Given the description of an element on the screen output the (x, y) to click on. 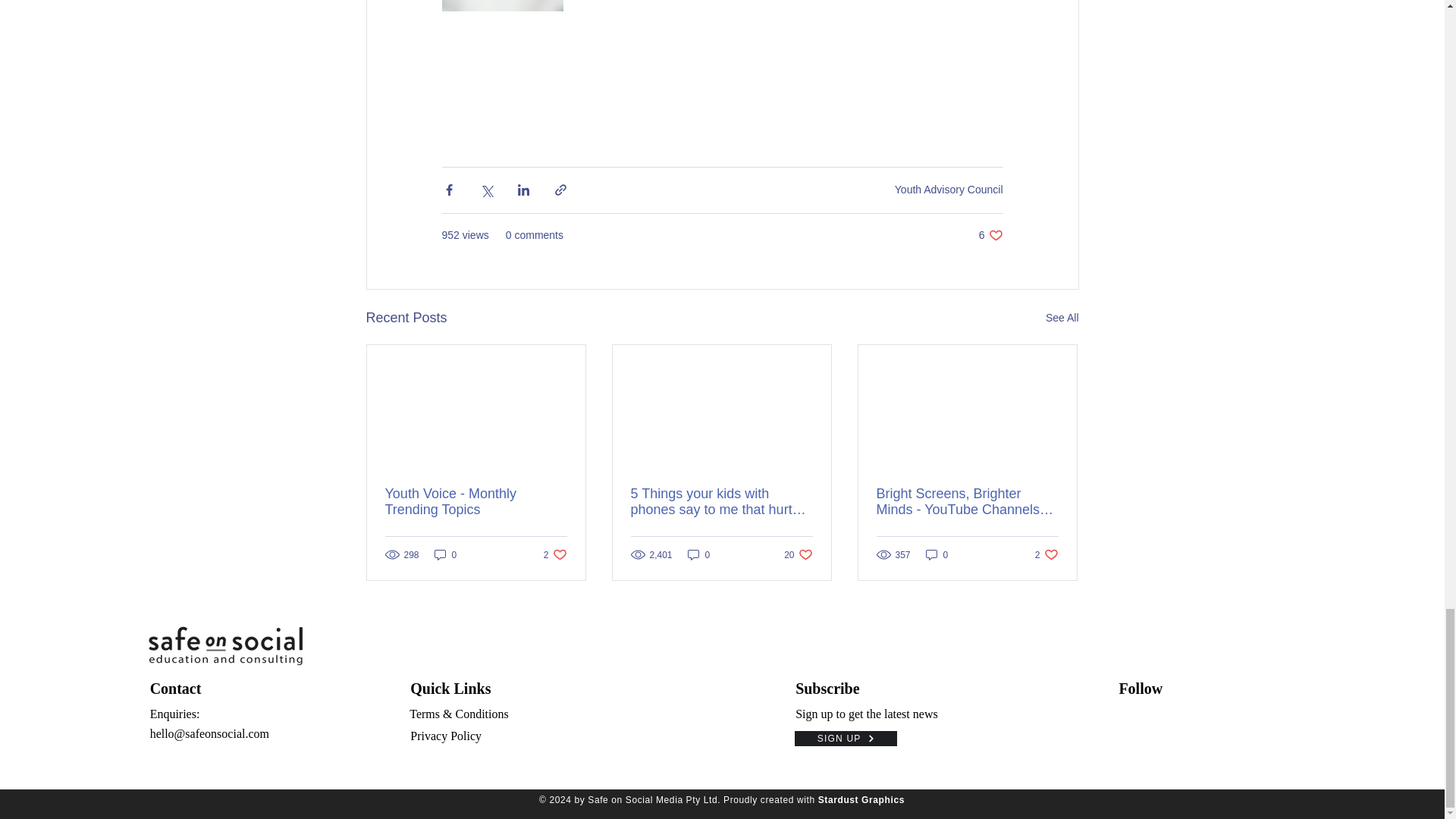
Youth Advisory Council (949, 189)
Safe on Social - Madeleine West (990, 235)
Youth Voice - Monthly Trending Topics (224, 645)
See All (476, 501)
0 (1061, 318)
